Given the description of an element on the screen output the (x, y) to click on. 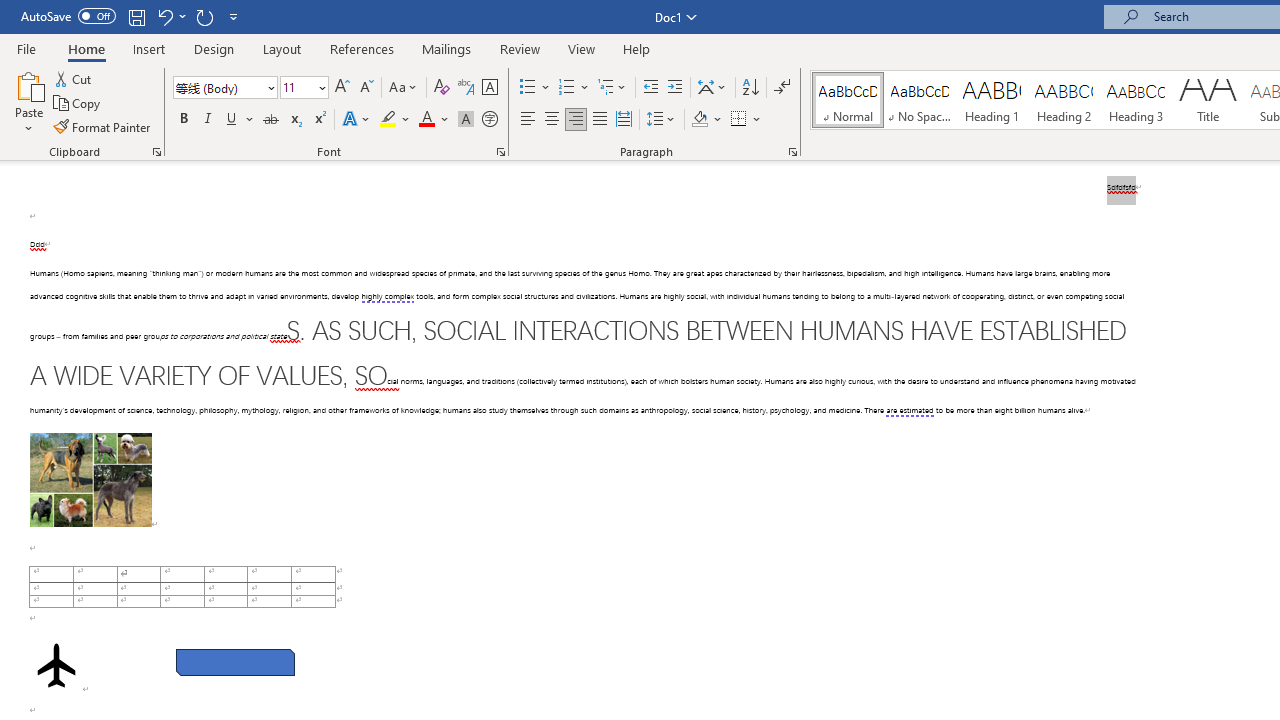
Font Color Red (426, 119)
Undo Paragraph Alignment (170, 15)
